Given the description of an element on the screen output the (x, y) to click on. 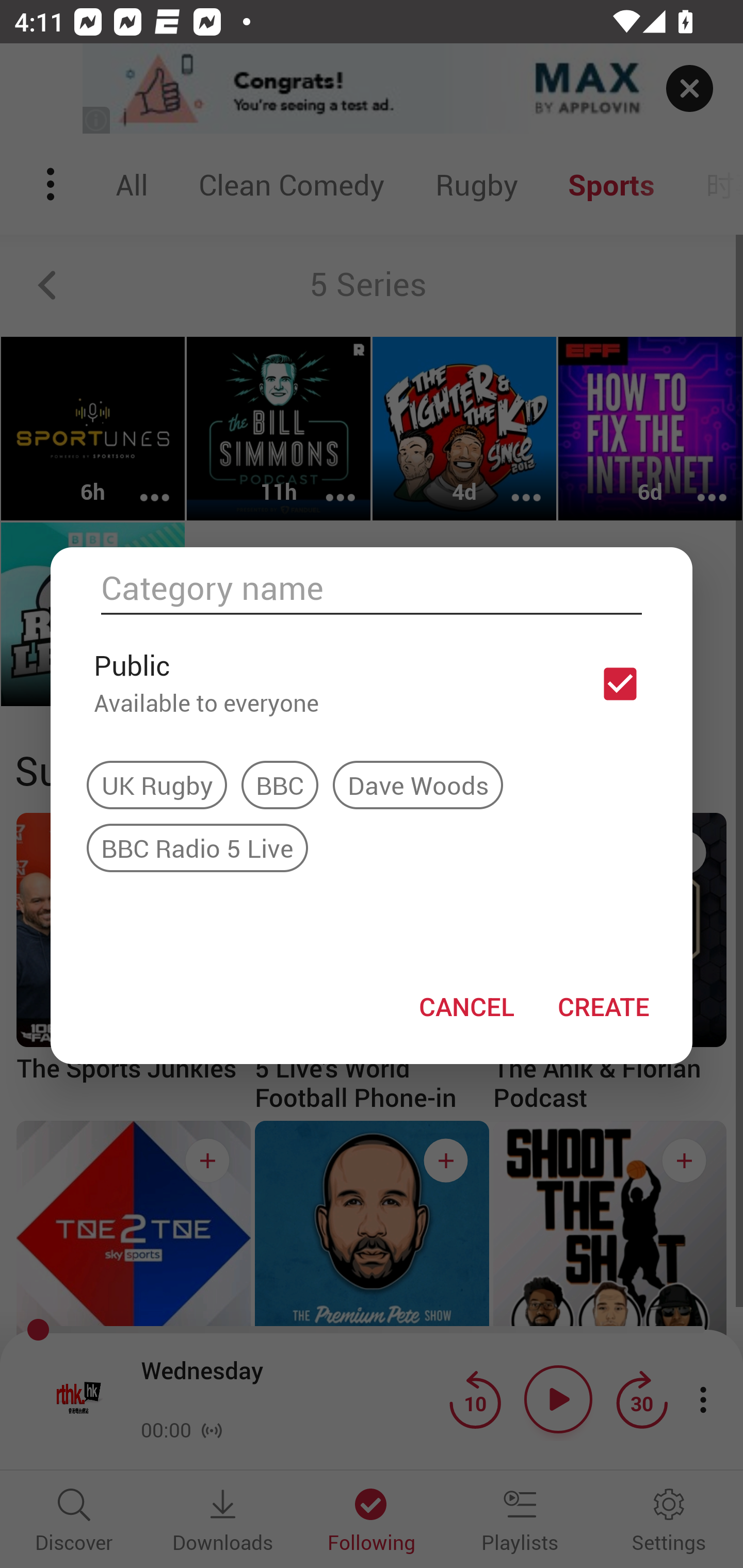
Category name (371, 587)
Public Available to everyone (371, 683)
UK Rugby (156, 784)
BBC (279, 784)
Dave Woods (417, 784)
BBC Radio 5 Live (197, 847)
CANCEL (465, 1005)
CREATE (602, 1005)
